Given the description of an element on the screen output the (x, y) to click on. 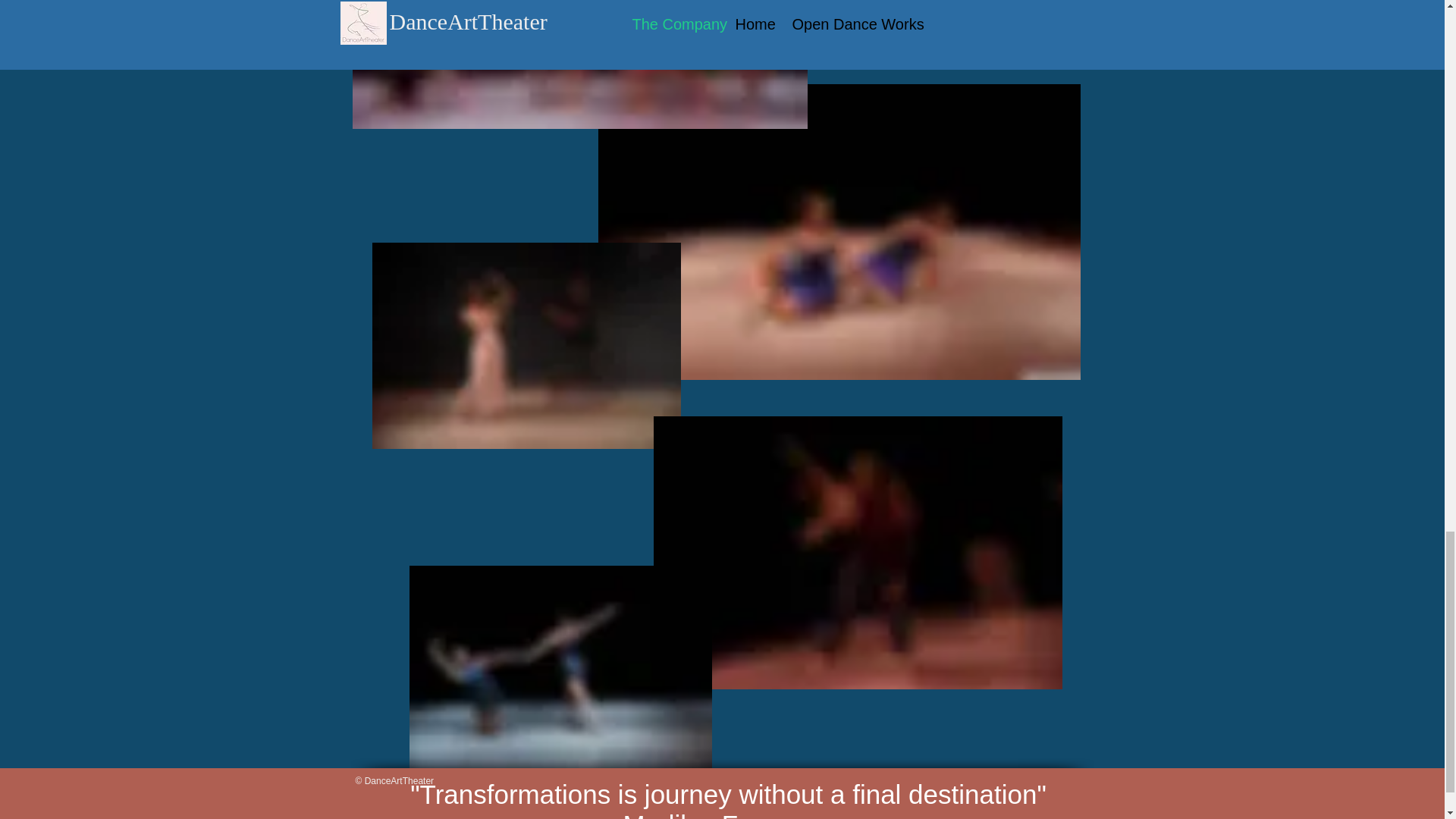
dat6.jpg (579, 64)
